Given the description of an element on the screen output the (x, y) to click on. 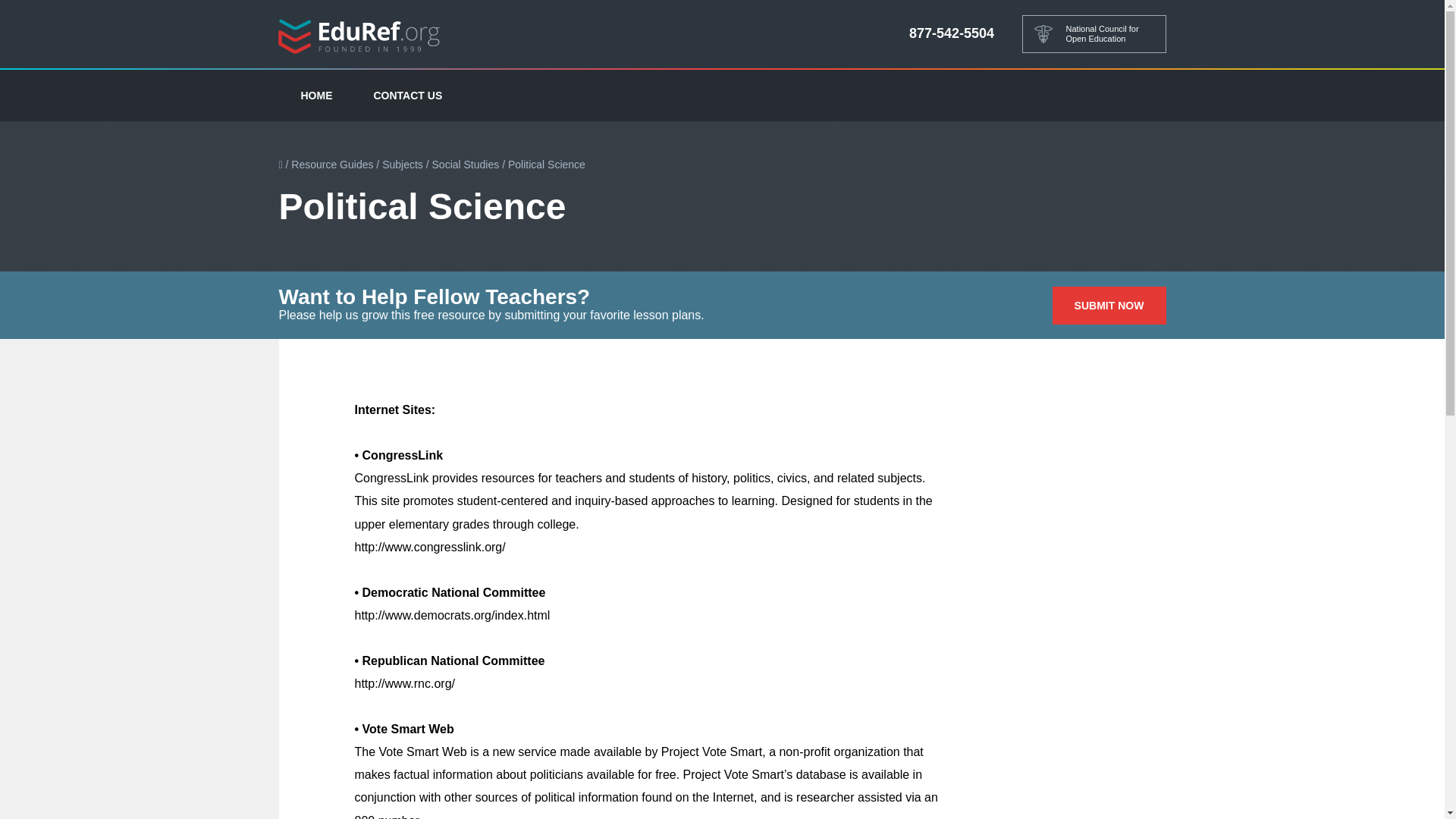
Political Science (546, 164)
Educator's Reference Desk (359, 34)
National Council for Open Education (1094, 34)
HOME (317, 95)
Subjects (402, 164)
877-542-5504 (951, 33)
CONTACT US (408, 95)
Social Studies (465, 164)
Resource Guides (331, 164)
SUBMIT NOW (1109, 305)
